Given the description of an element on the screen output the (x, y) to click on. 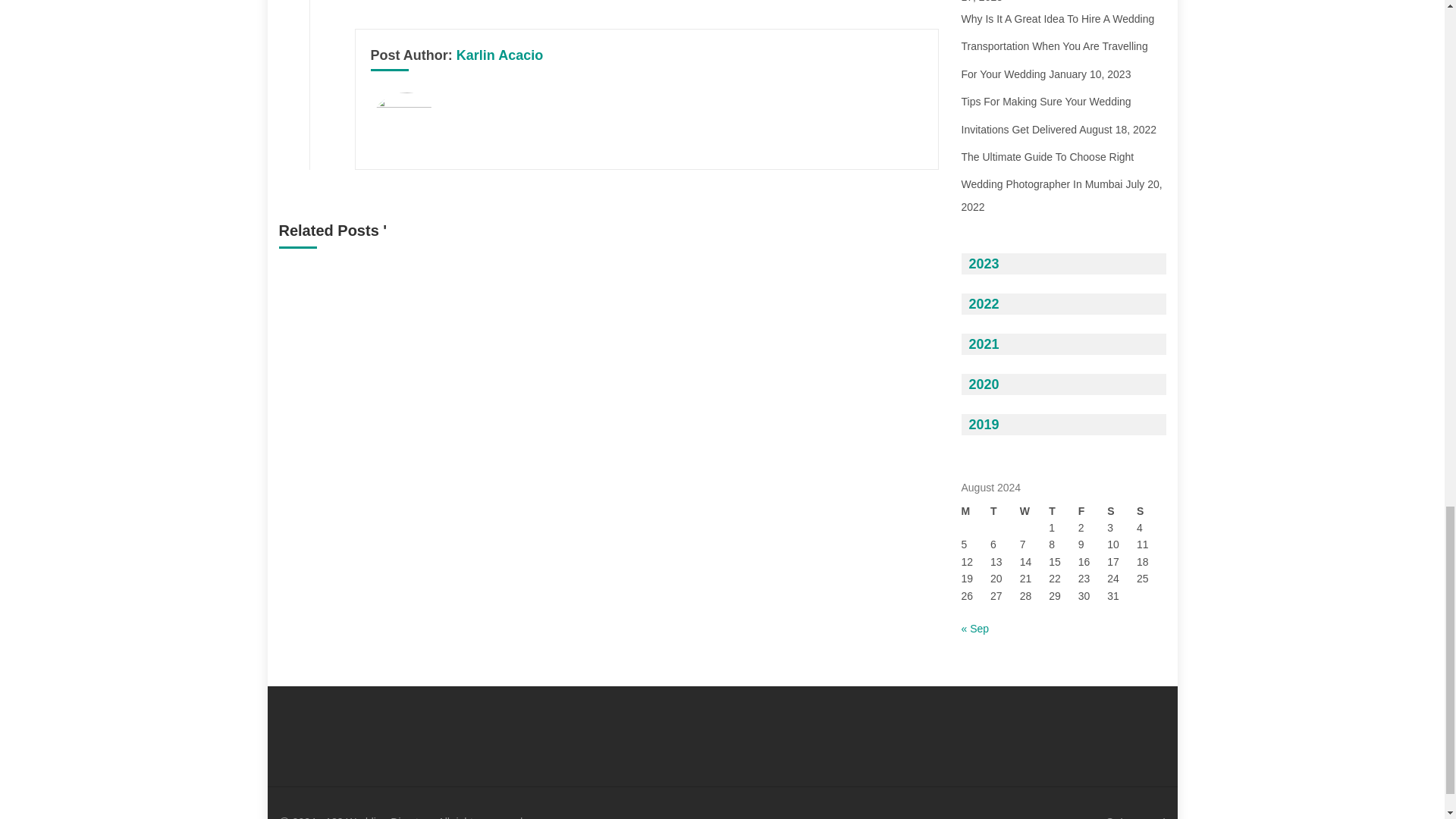
Sunday (1151, 510)
Thursday (1063, 510)
Friday (1093, 510)
Karlin Acacio (500, 55)
Saturday (1121, 510)
Monday (975, 510)
Tuesday (1005, 510)
Wednesday (1034, 510)
